Given the description of an element on the screen output the (x, y) to click on. 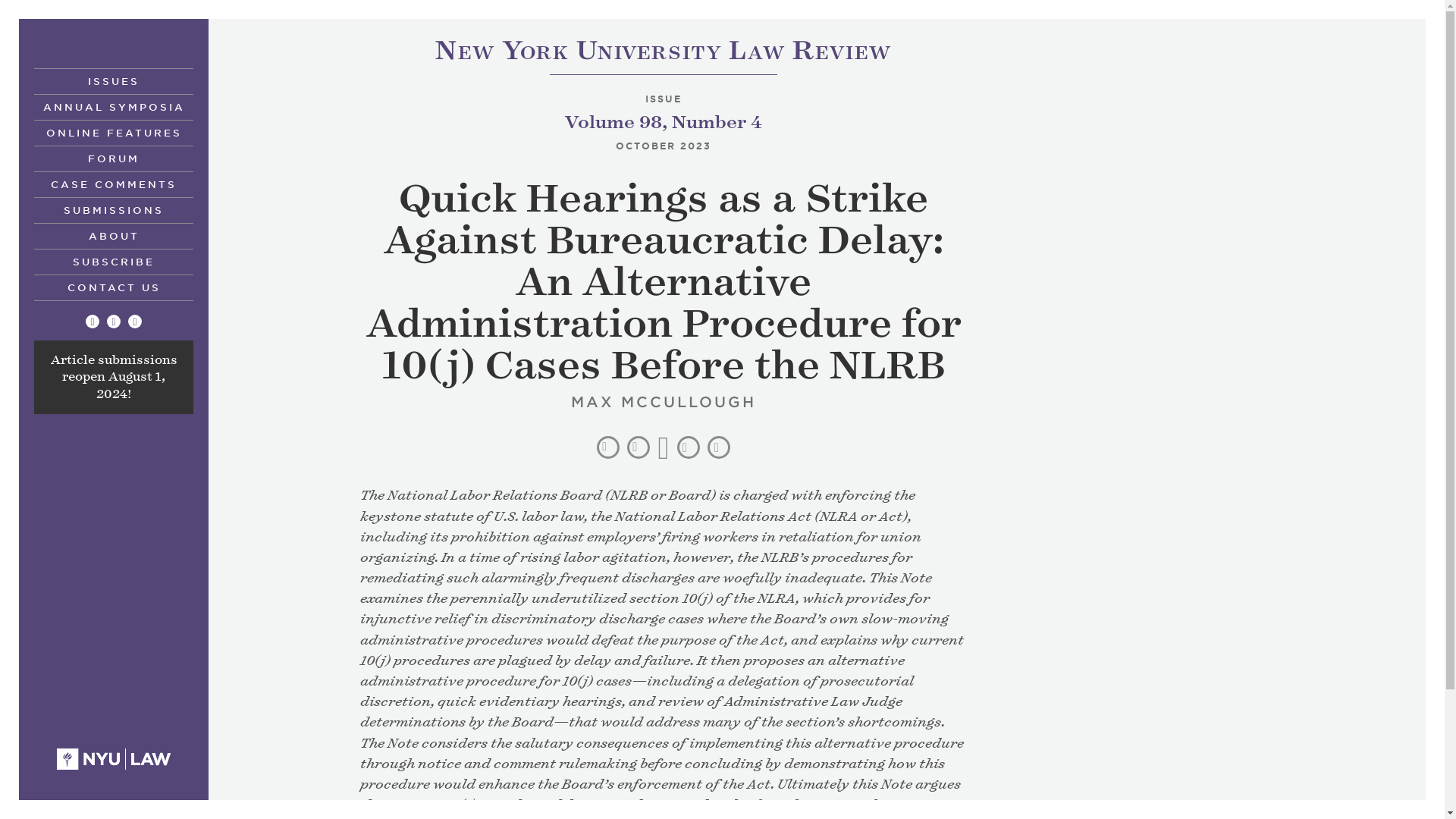
ISSUES (113, 80)
Linkedin (134, 321)
ONLINE FEATURES (113, 132)
FORUM (113, 158)
ANNUAL SYMPOSIA (663, 52)
SUBSCRIBE (113, 106)
Facebook (113, 261)
Volume 98, Number 4 (113, 321)
